Given the description of an element on the screen output the (x, y) to click on. 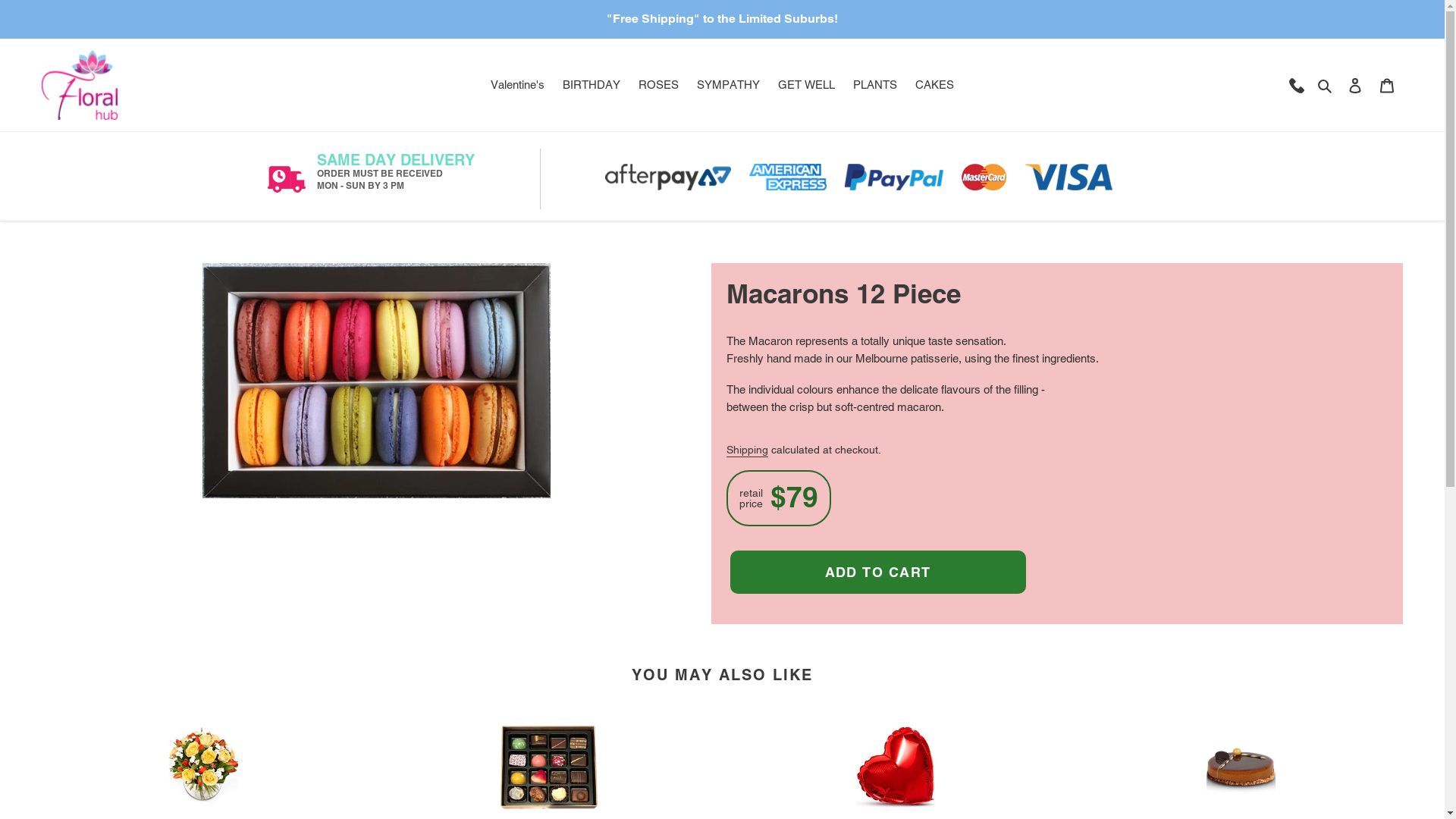
Search Element type: text (1325, 84)
BIRTHDAY Element type: text (591, 85)
SYMPATHY Element type: text (728, 85)
ROSES Element type: text (658, 85)
ADD TO CART Element type: text (877, 571)
Log in Element type: text (1355, 85)
Shipping Element type: text (747, 450)
CAKES Element type: text (934, 85)
GET WELL Element type: text (806, 85)
Valentine's Element type: text (517, 85)
Cart Element type: text (1386, 85)
PLANTS Element type: text (874, 85)
